Given the description of an element on the screen output the (x, y) to click on. 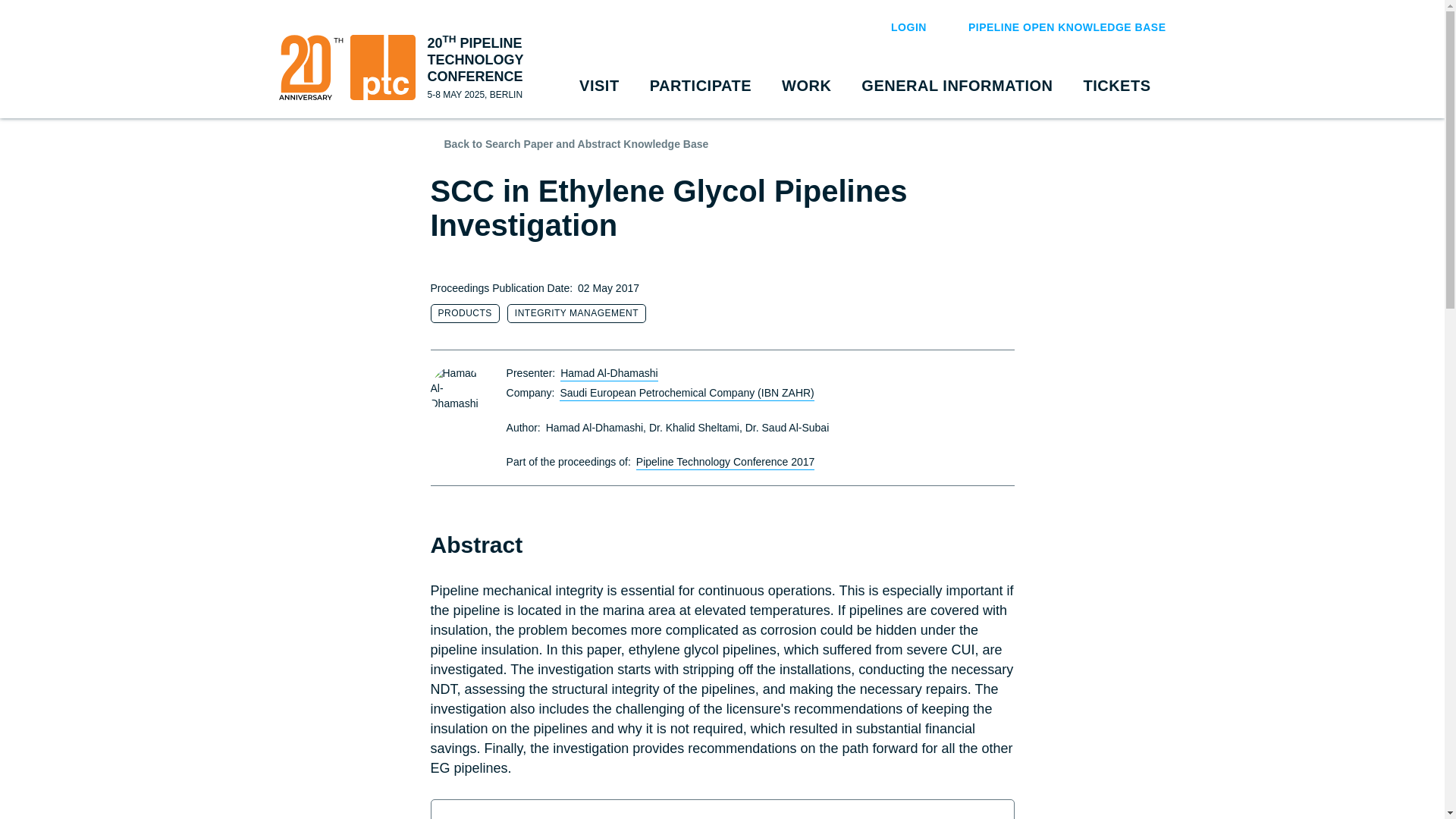
PIPELINE OPEN KNOWLEDGE BASE (1057, 27)
LOGIN (899, 27)
Hamad Al-Dhamashi (456, 391)
